Given the description of an element on the screen output the (x, y) to click on. 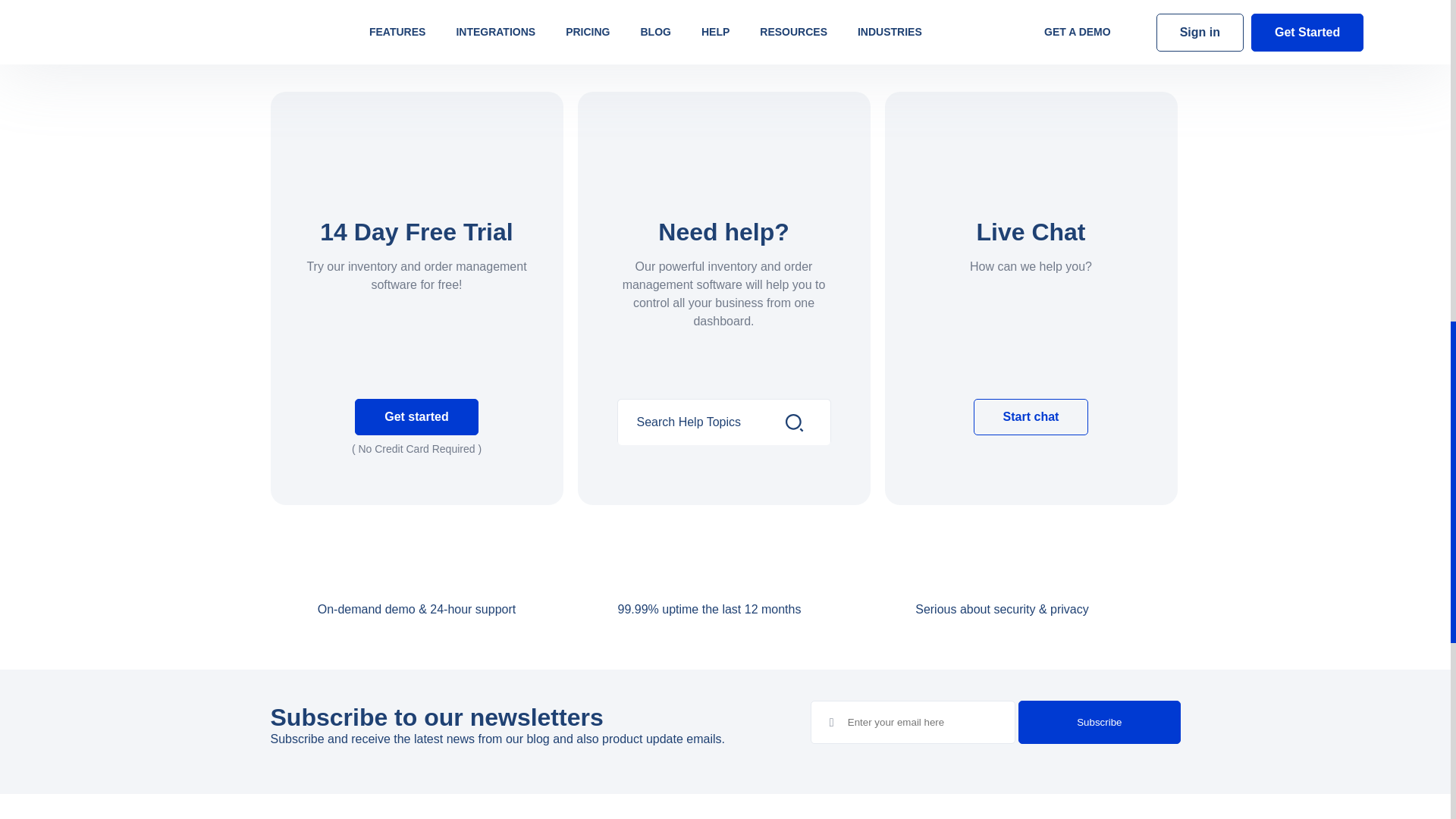
Subscribe (1098, 722)
Start chat (1031, 416)
Get started (416, 416)
